Given the description of an element on the screen output the (x, y) to click on. 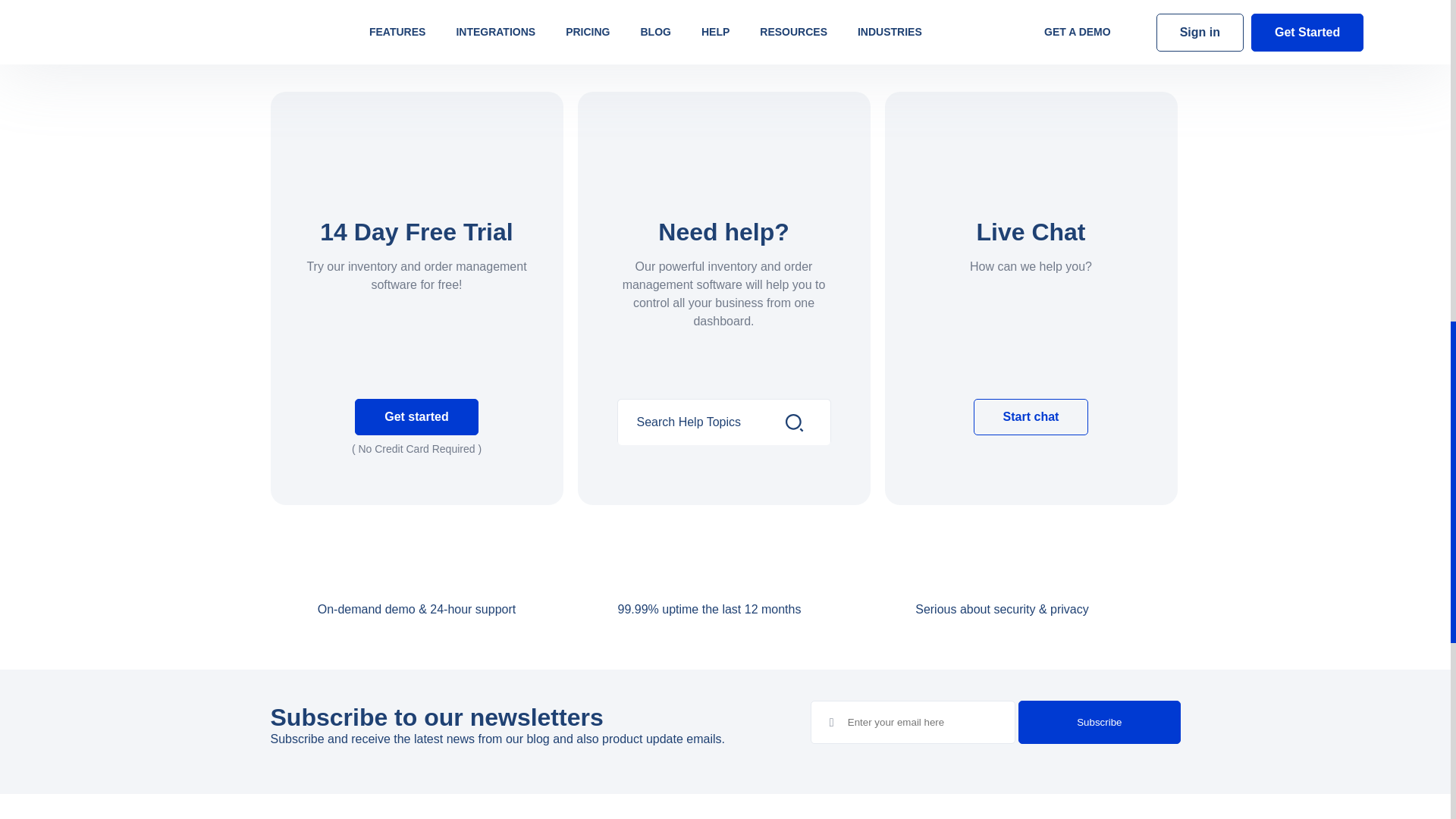
Subscribe (1098, 722)
Start chat (1031, 416)
Get started (416, 416)
